Given the description of an element on the screen output the (x, y) to click on. 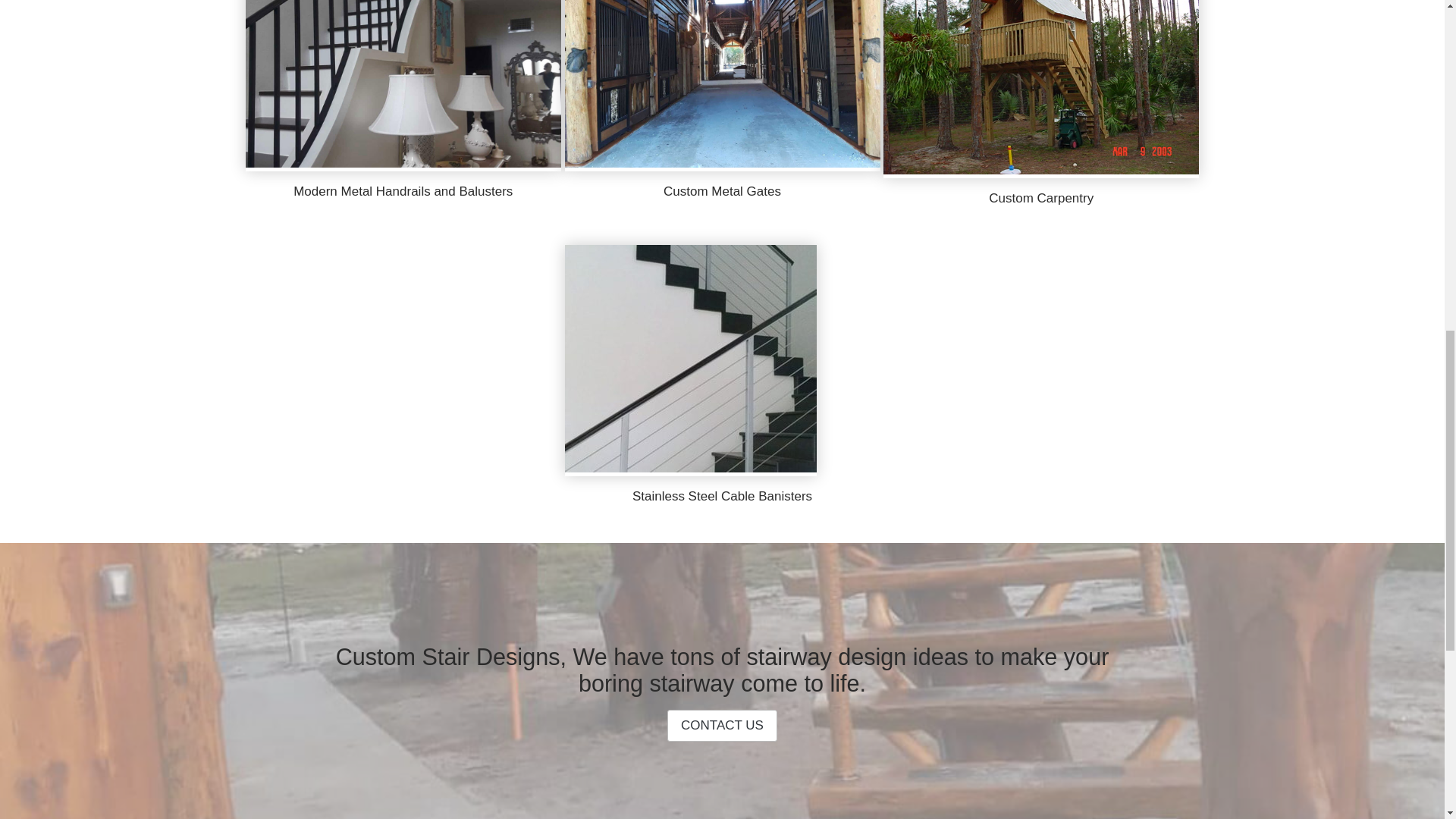
CONTACT US (721, 726)
Custom Metal Gates (721, 191)
Stainless Steel Cable Banisters (721, 495)
Modern Metal Handrails and Balusters (403, 191)
Custom Carpentry (1040, 197)
